Given the description of an element on the screen output the (x, y) to click on. 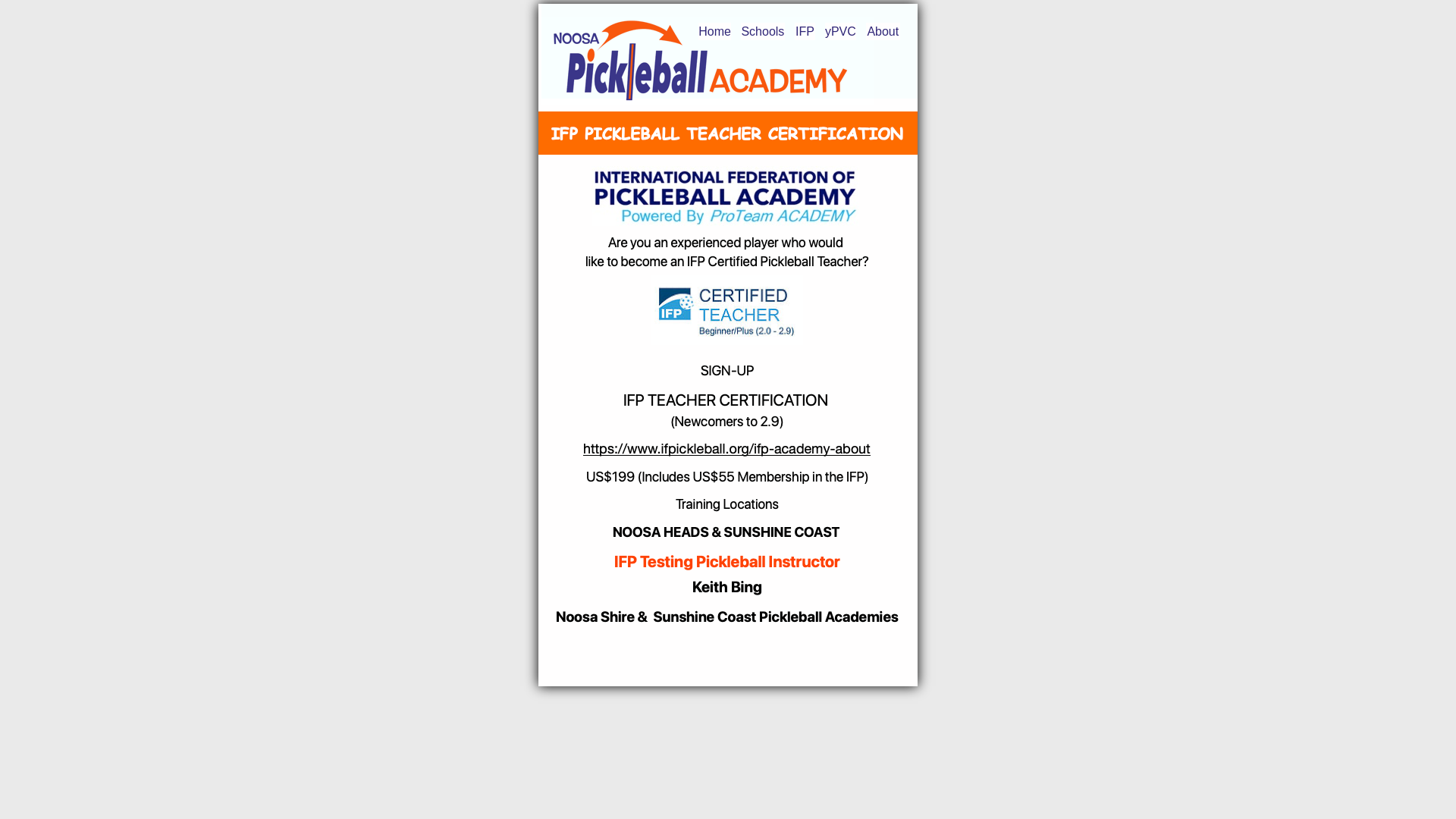
Home Element type: text (714, 31)
IFP Element type: text (804, 31)
yPVC Element type: text (840, 31)
Schools Element type: text (762, 31)
About Element type: text (883, 31)
